Given the description of an element on the screen output the (x, y) to click on. 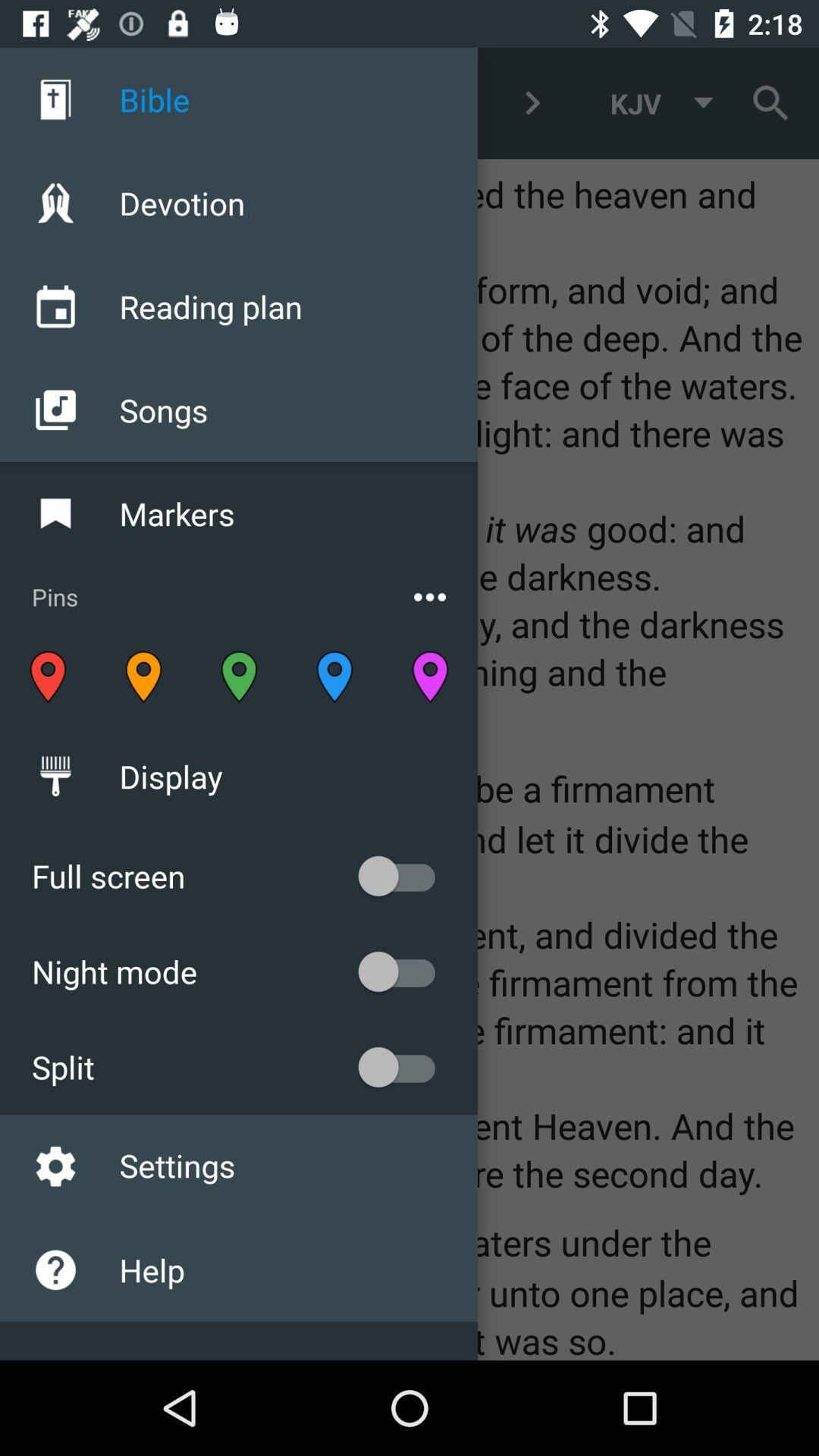
click on fourth location pin from left (334, 676)
